Given the description of an element on the screen output the (x, y) to click on. 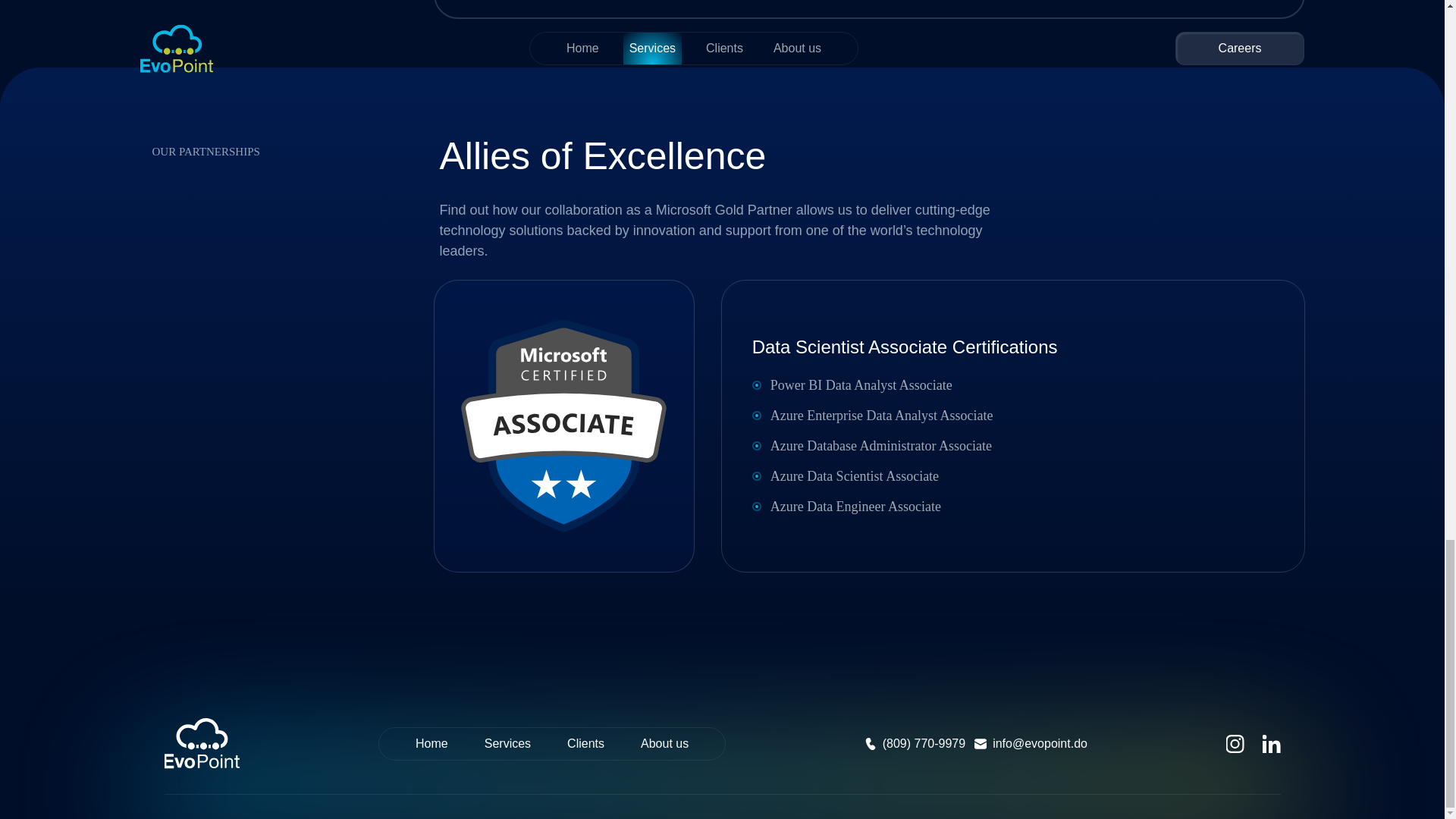
Services (507, 743)
Home (431, 743)
Clients (585, 743)
About us (664, 743)
